Given the description of an element on the screen output the (x, y) to click on. 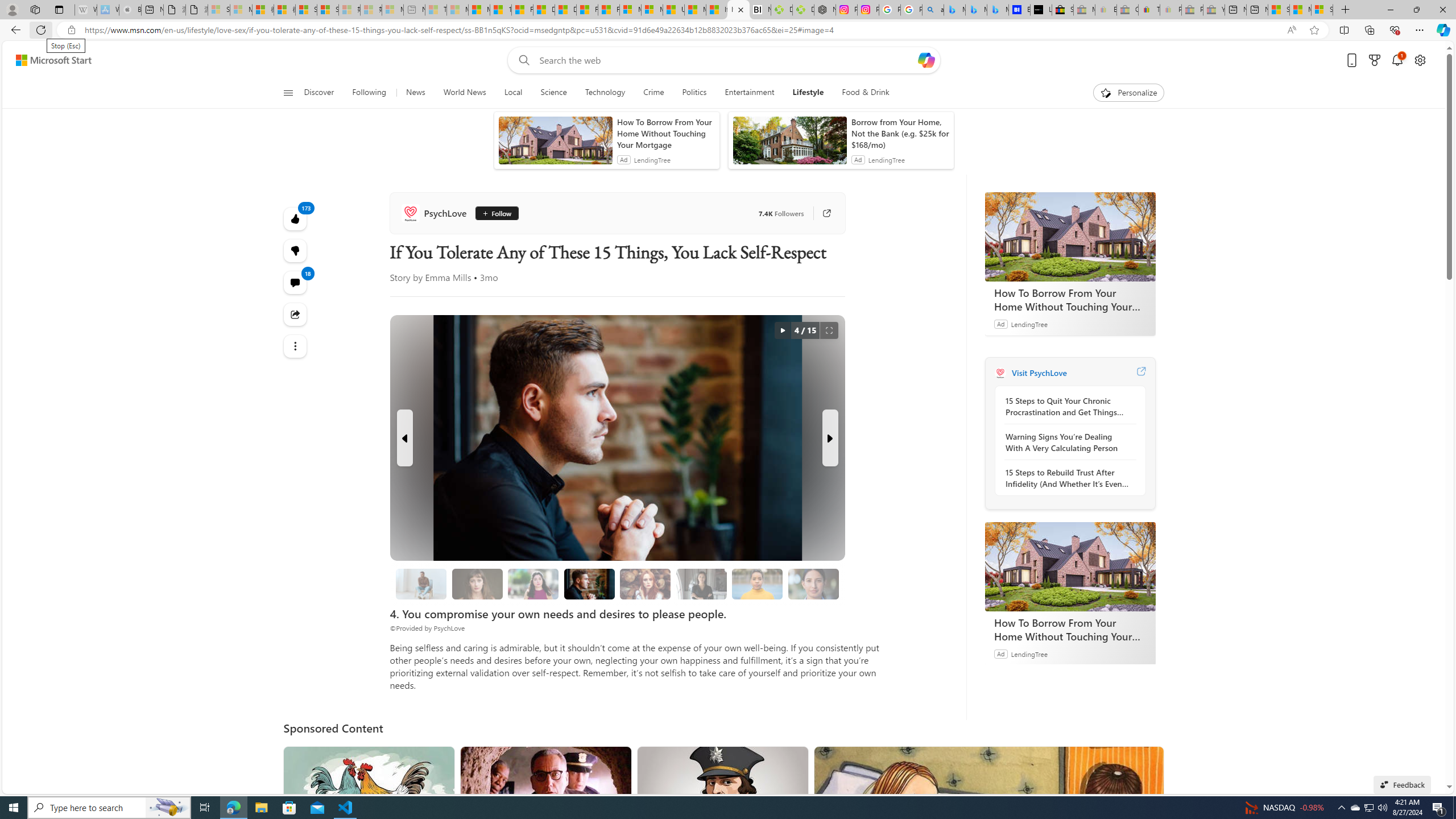
Microsoft account | Account Checkup - Sleeping (392, 9)
Payments Terms of Use | eBay.com - Sleeping (1170, 9)
Foo BAR | Trusted Community Engagement and Contributions (608, 9)
